Given the description of an element on the screen output the (x, y) to click on. 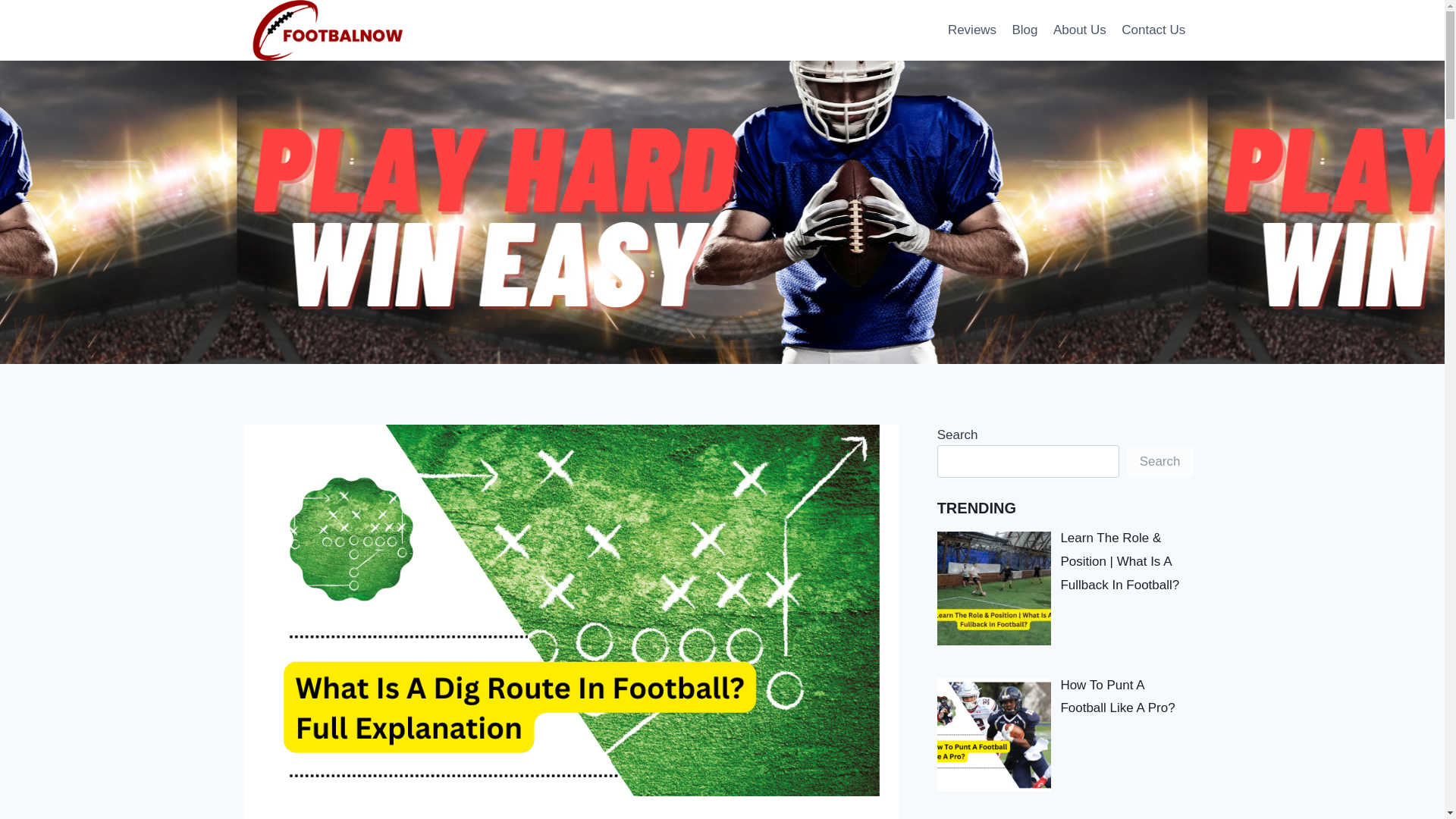
Reviews (972, 30)
About Us (1079, 30)
Blog (1024, 30)
Contact Us (1152, 30)
